Given the description of an element on the screen output the (x, y) to click on. 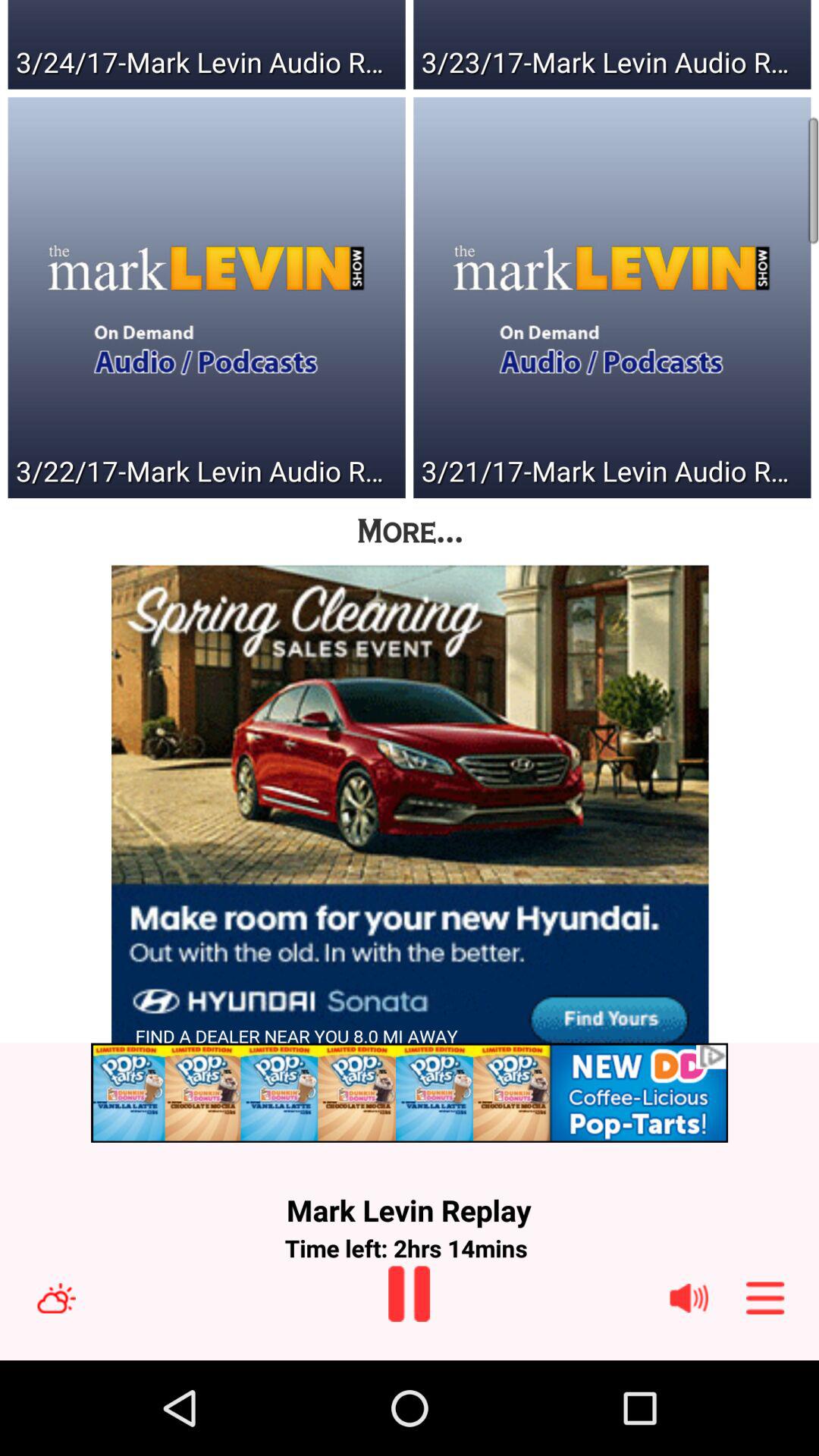
advertisement (409, 1092)
